Given the description of an element on the screen output the (x, y) to click on. 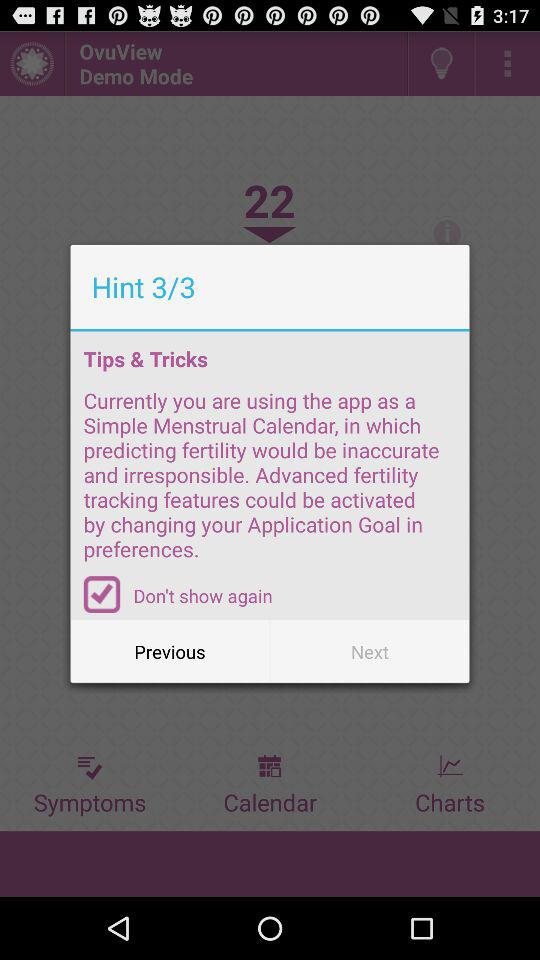
open item next to previous (369, 651)
